Given the description of an element on the screen output the (x, y) to click on. 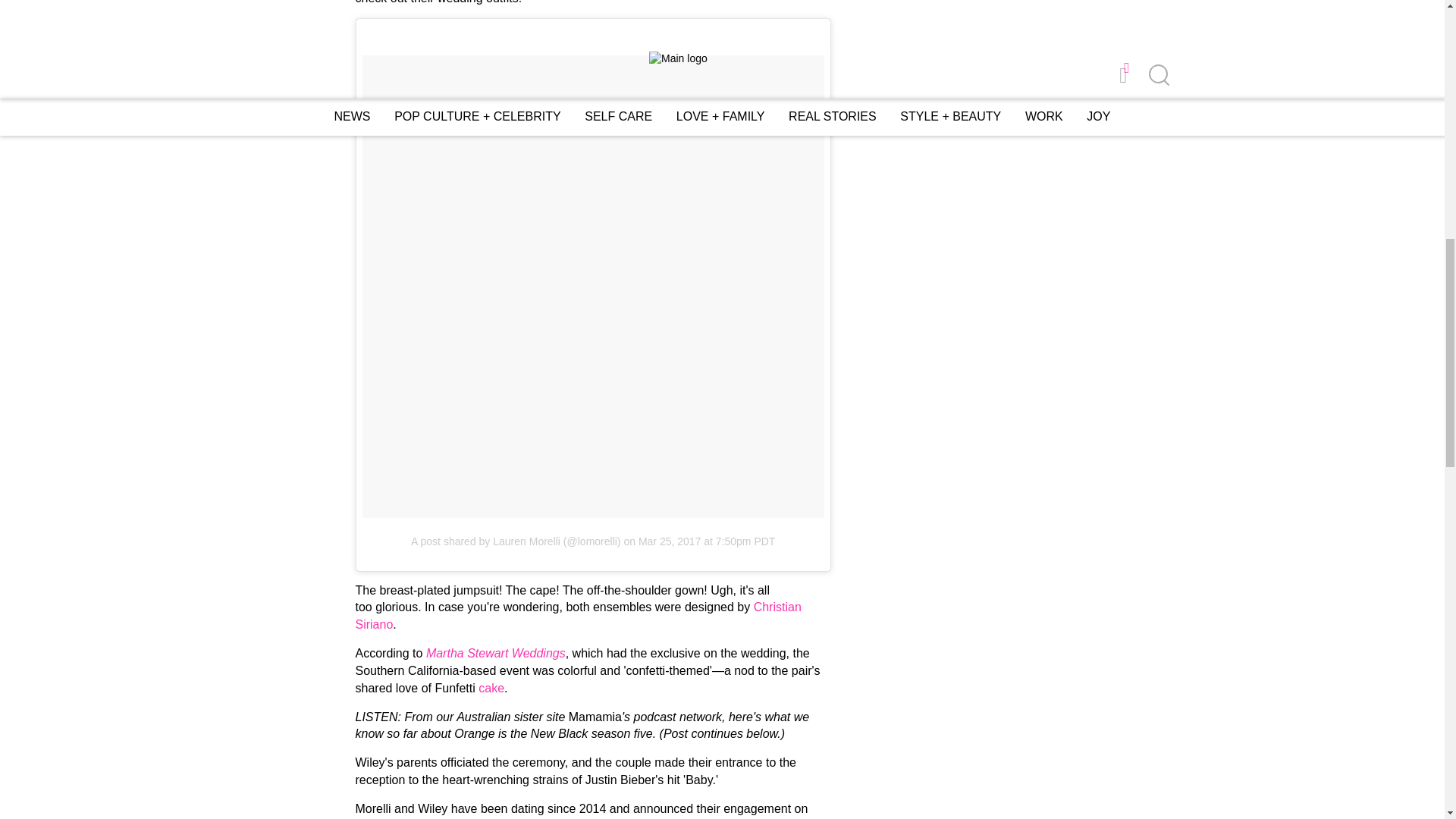
Martha Stewart Weddings (496, 653)
Christian Siriano (577, 615)
cake (491, 687)
